Given the description of an element on the screen output the (x, y) to click on. 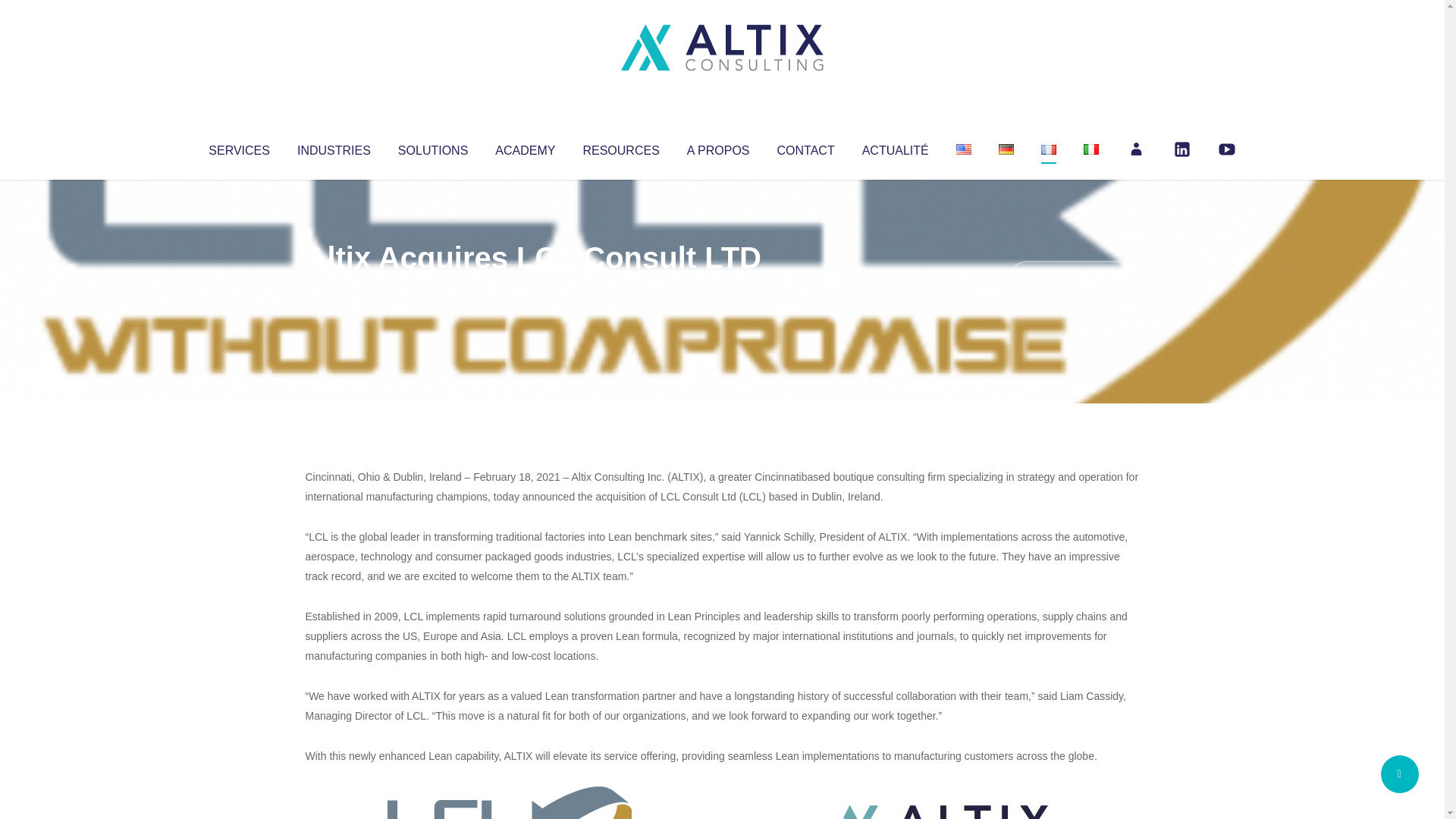
Altix (333, 287)
A PROPOS (718, 146)
RESOURCES (620, 146)
No Comments (1073, 278)
INDUSTRIES (334, 146)
SOLUTIONS (432, 146)
ACADEMY (524, 146)
Uncategorized (530, 287)
SERVICES (238, 146)
Articles par Altix (333, 287)
